Given the description of an element on the screen output the (x, y) to click on. 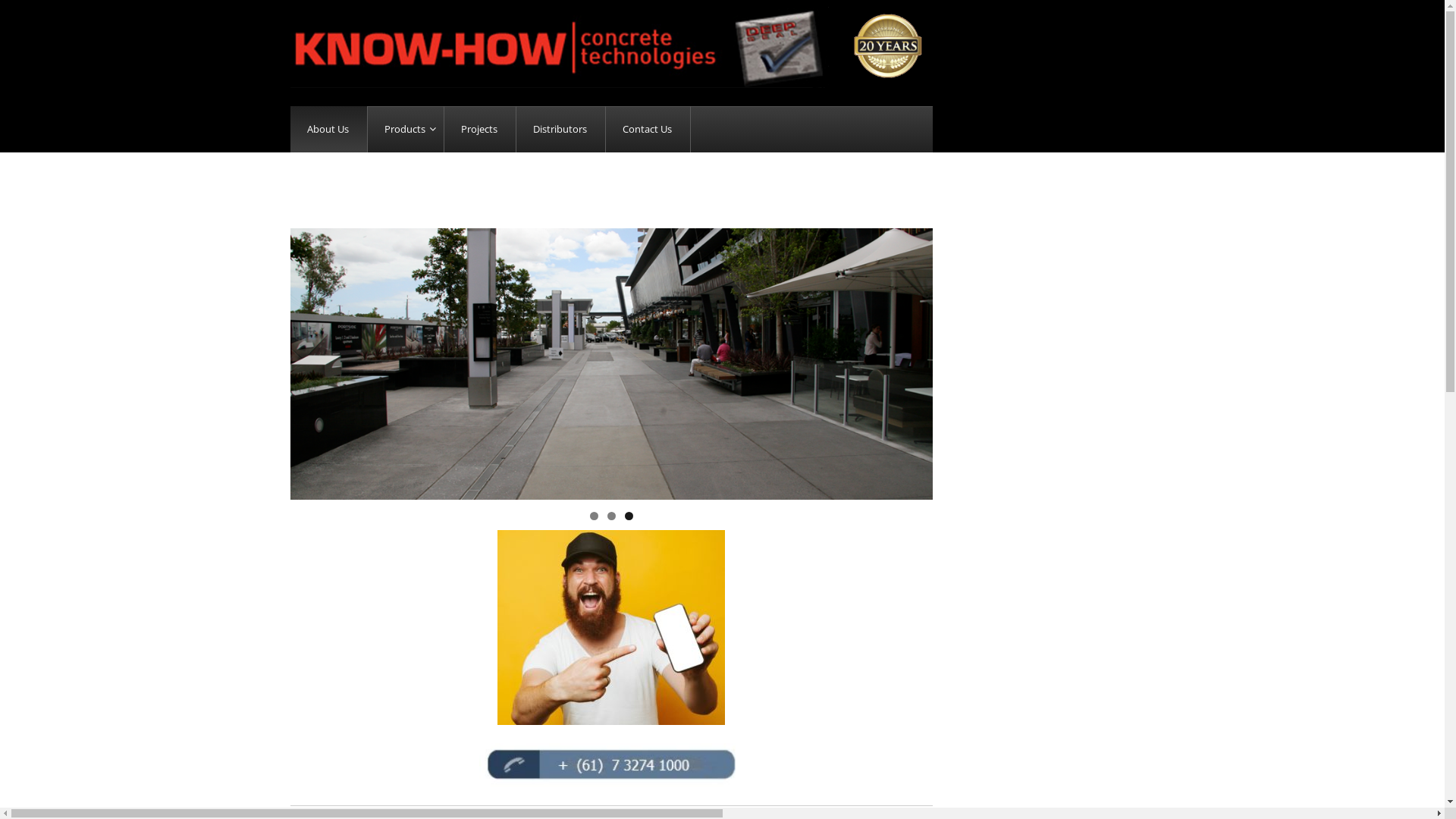
Projects Element type: text (480, 129)
2 Element type: text (611, 515)
About Us Element type: text (328, 129)
Contact Us Element type: text (647, 129)
concrete-waterproofing02 Element type: hover (610, 364)
Products Element type: text (405, 129)
3 Element type: text (628, 515)
Distributors Element type: text (560, 129)
1 Element type: text (593, 515)
